Given the description of an element on the screen output the (x, y) to click on. 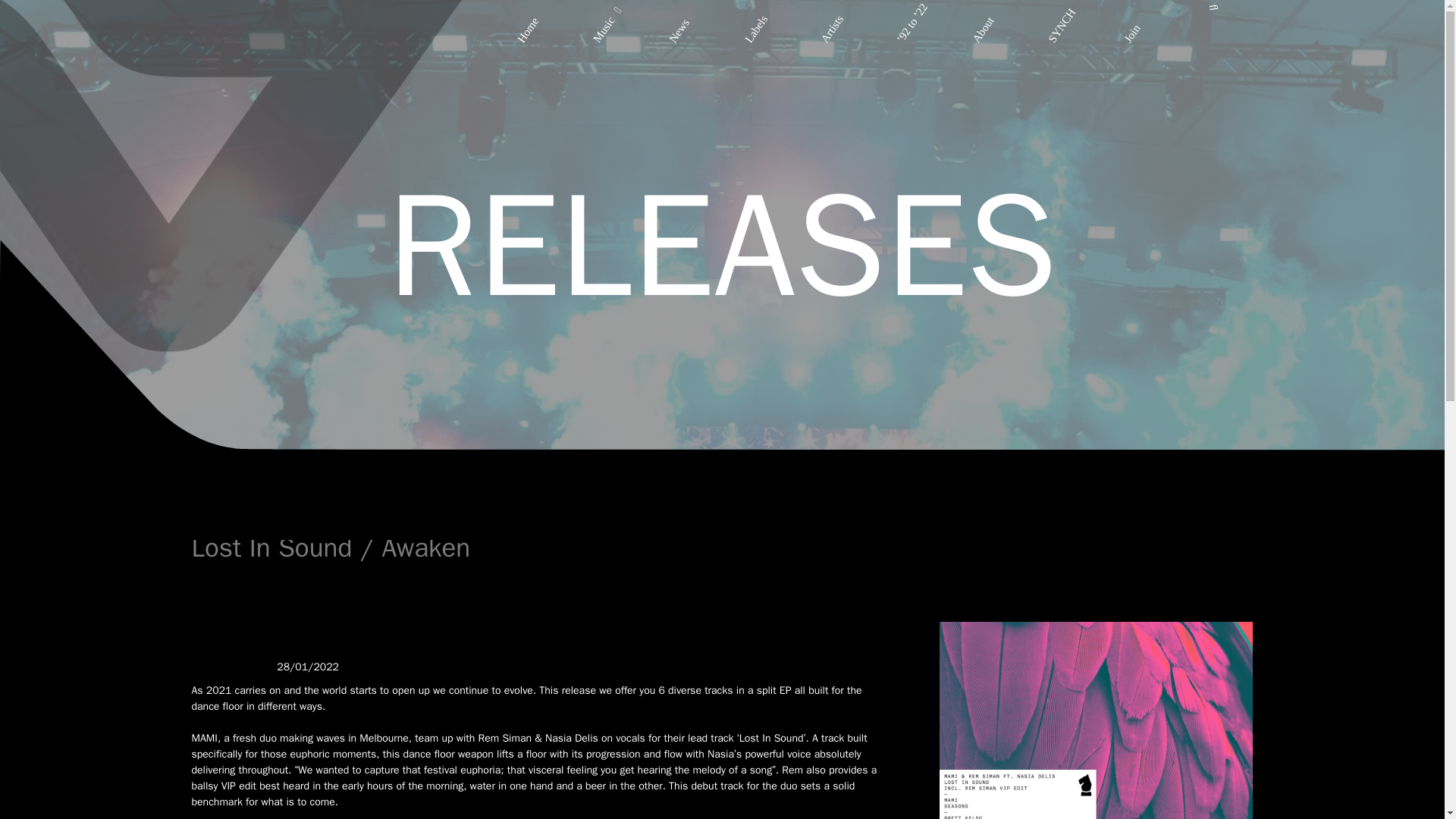
Home (531, 12)
Music (607, 12)
